Given the description of an element on the screen output the (x, y) to click on. 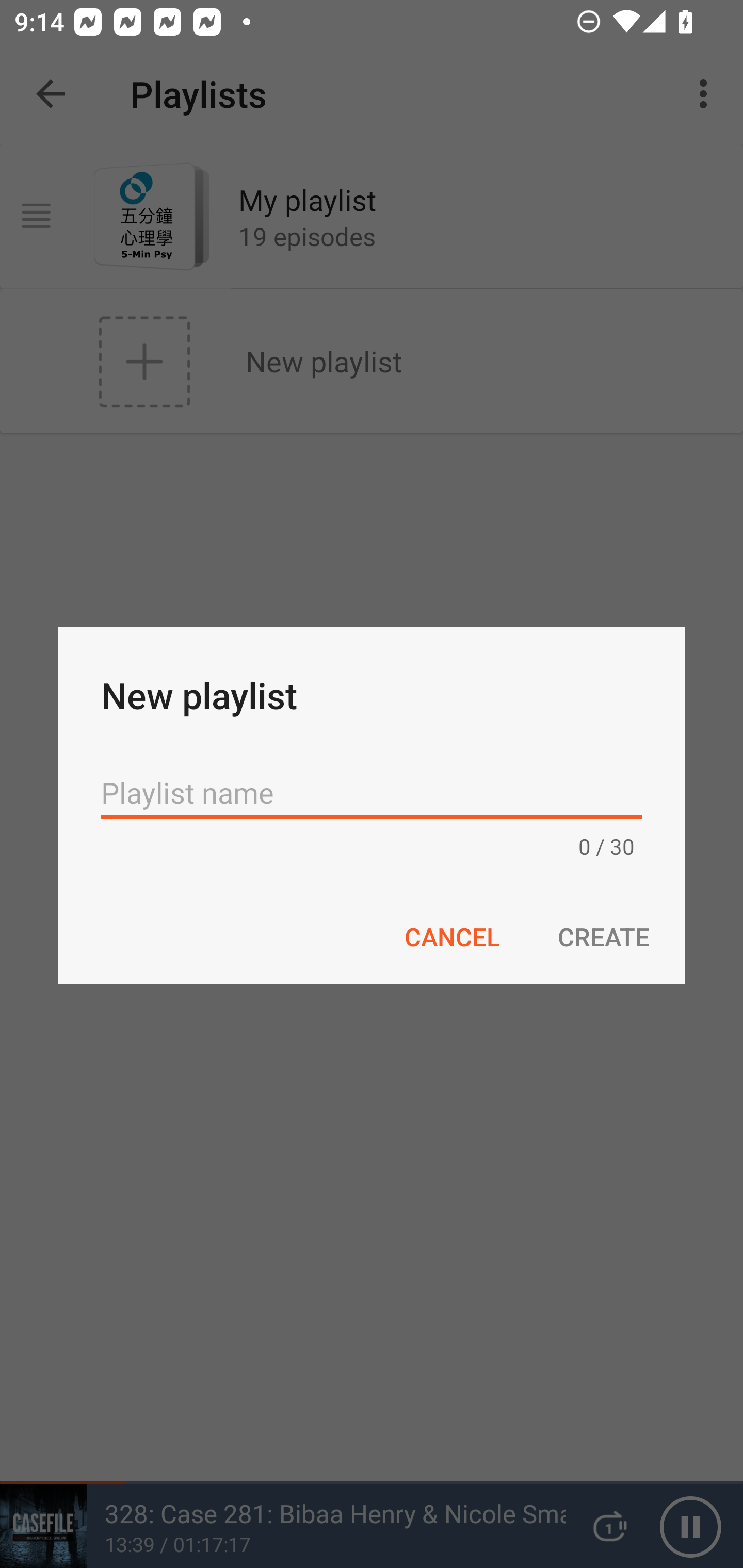
Playlist name (371, 792)
CANCEL (451, 936)
CREATE (602, 936)
